Given the description of an element on the screen output the (x, y) to click on. 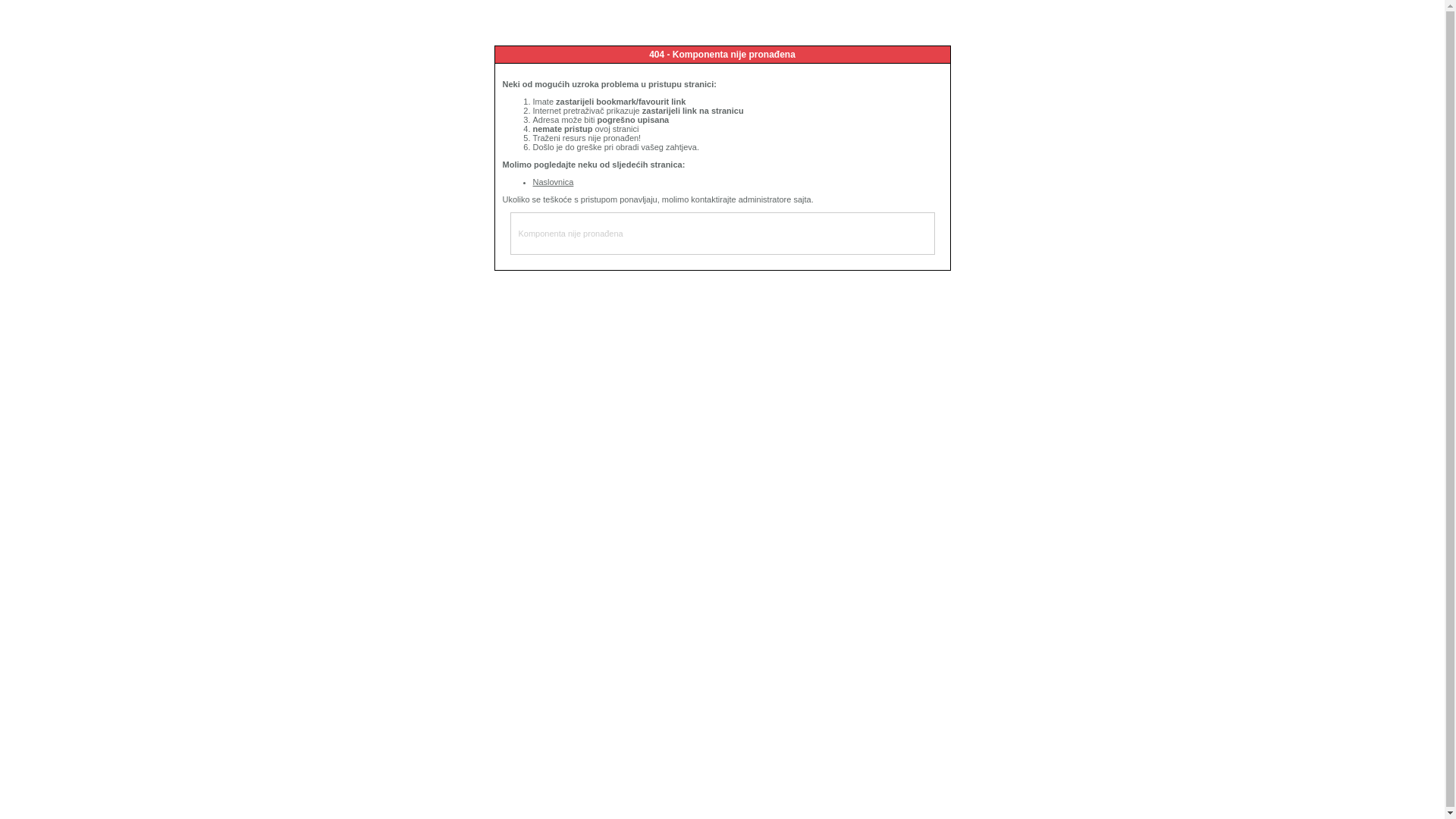
Naslovnica Element type: text (552, 181)
